Given the description of an element on the screen output the (x, y) to click on. 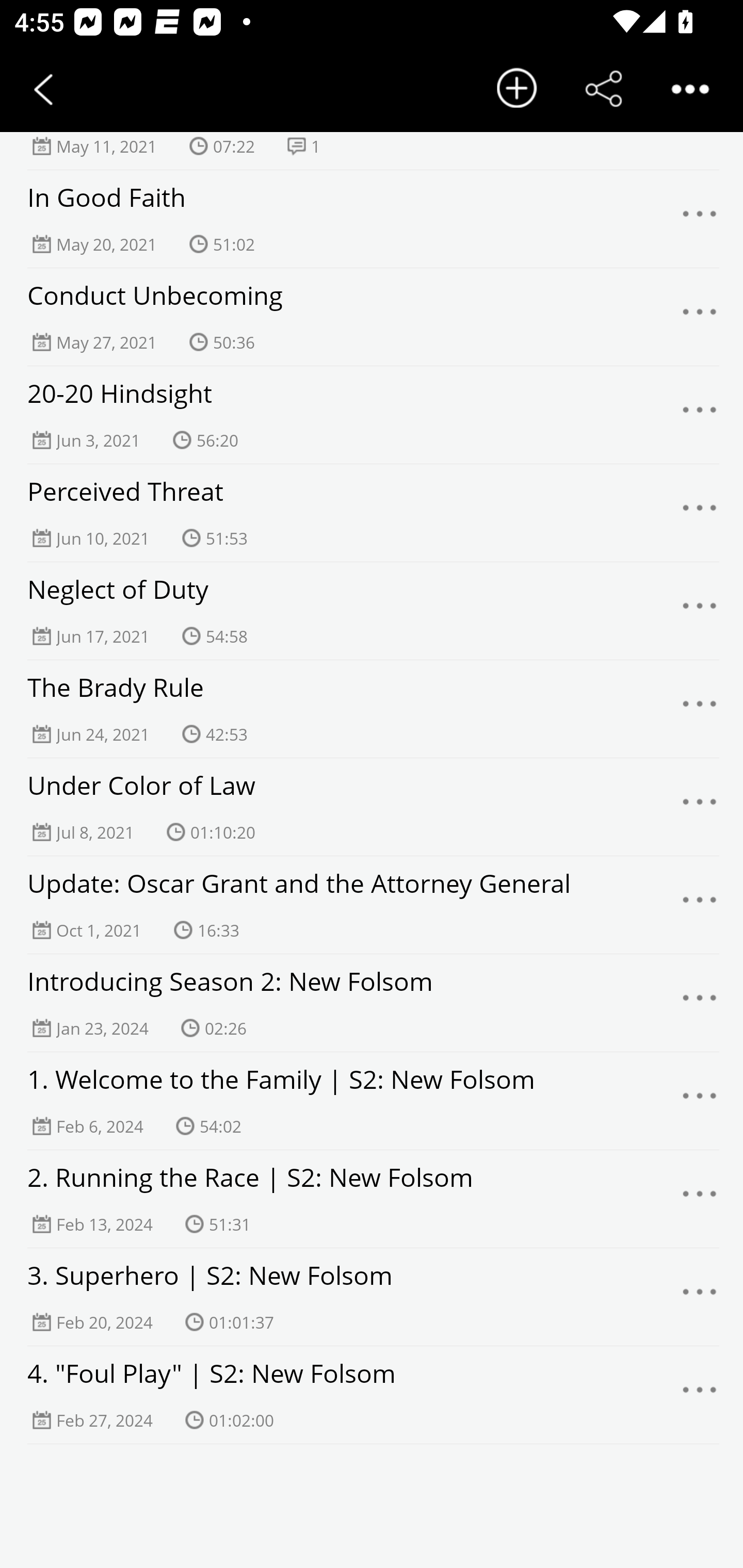
Back (43, 88)
In Good Faith May 20, 2021 51:02 Menu (371, 219)
Menu (699, 218)
Conduct Unbecoming May 27, 2021 50:36 Menu (371, 317)
Menu (699, 317)
20-20 Hindsight Jun 3, 2021 56:20 Menu (371, 415)
Menu (699, 414)
Perceived Threat Jun 10, 2021 51:53 Menu (371, 513)
Menu (699, 513)
Neglect of Duty Jun 17, 2021 54:58 Menu (371, 611)
Menu (699, 610)
The Brady Rule Jun 24, 2021 42:53 Menu (371, 709)
Menu (699, 709)
Under Color of Law Jul 8, 2021 01:10:20 Menu (371, 807)
Menu (699, 806)
Menu (699, 905)
Menu (699, 1002)
Menu (699, 1101)
Menu (699, 1198)
Menu (699, 1297)
Menu (699, 1394)
